Given the description of an element on the screen output the (x, y) to click on. 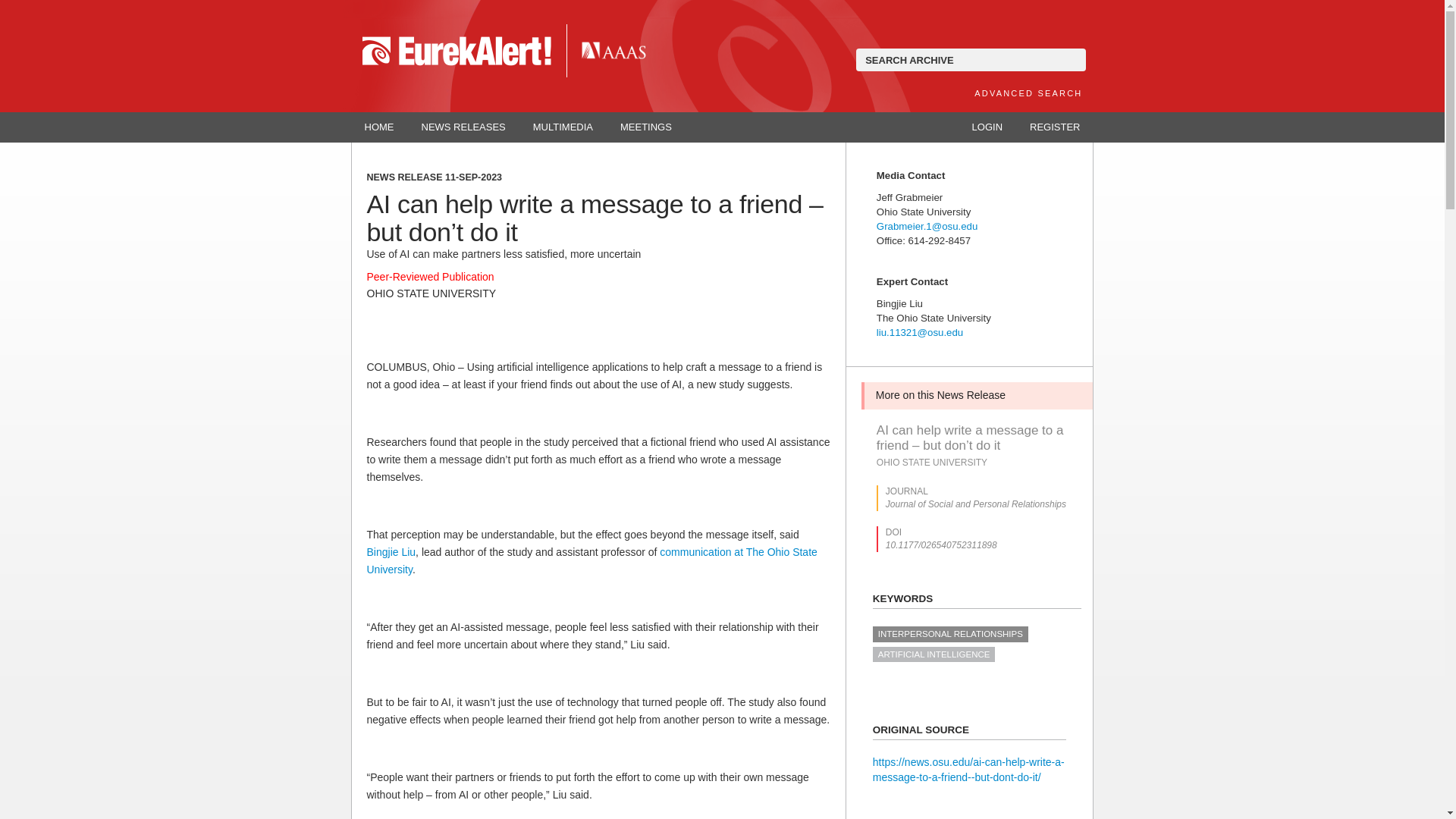
ARTIFICIAL INTELLIGENCE (933, 654)
NEWS RELEASES (463, 127)
communication at The Ohio State University (591, 560)
Peer-Reviewed Publication (430, 276)
HOME (378, 127)
LOGIN (987, 127)
MULTIMEDIA (563, 127)
REGISTER (1054, 127)
MEETINGS (646, 127)
Bingjie Liu (391, 551)
INTERPERSONAL RELATIONSHIPS (949, 633)
ADVANCED SEARCH (1027, 92)
